Given the description of an element on the screen output the (x, y) to click on. 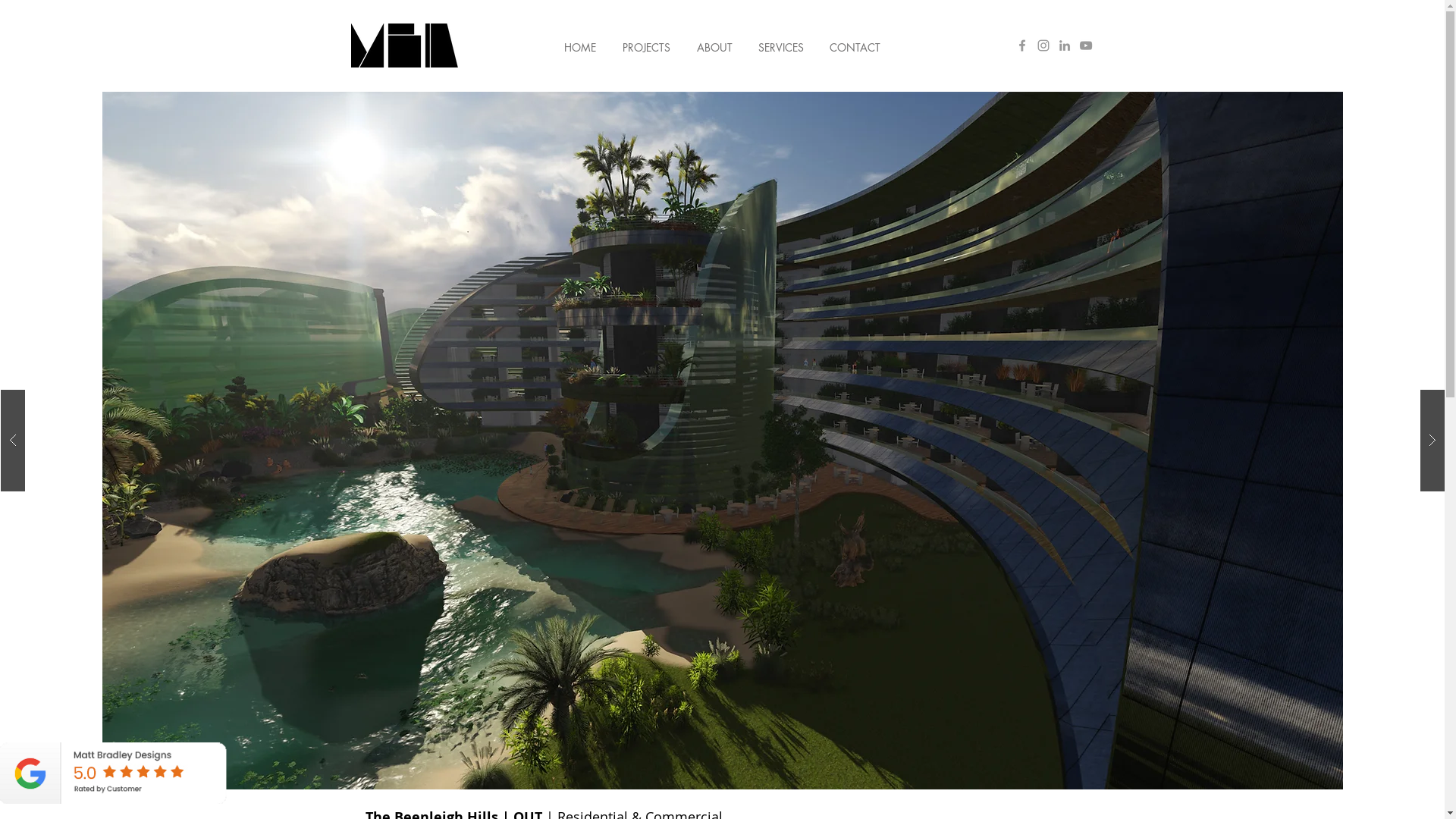
SERVICES Element type: text (779, 40)
CONTACT Element type: text (853, 40)
ABOUT Element type: text (714, 40)
HOME Element type: text (579, 40)
PROJECTS Element type: text (646, 40)
